Given the description of an element on the screen output the (x, y) to click on. 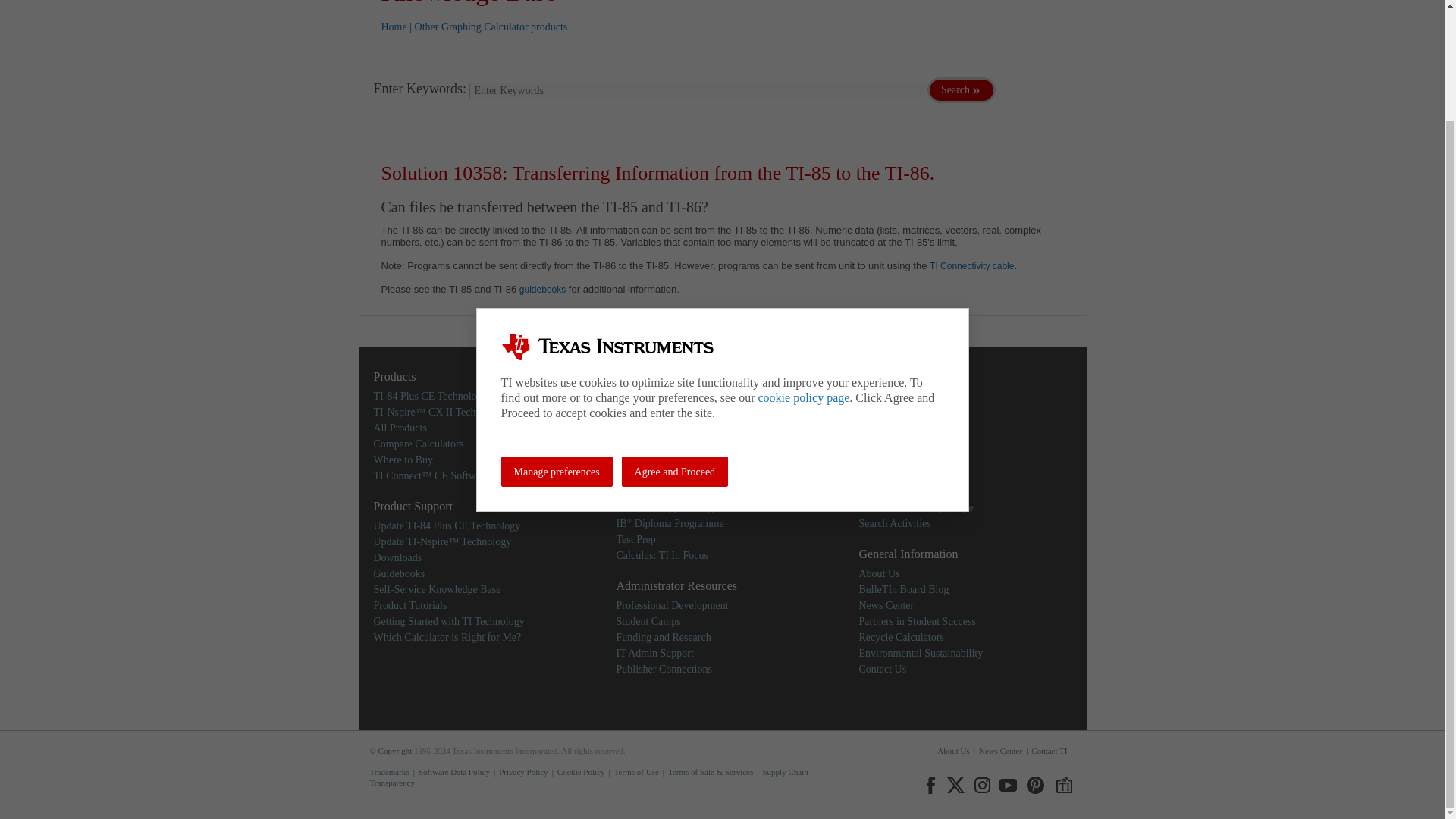
Where to Buy (402, 460)
Product Tutorials (409, 604)
All Products (399, 428)
Which Calculator is Right for Me? (446, 636)
Guidebooks (398, 573)
Update TI-84 Plus CE Technology (445, 524)
Update TI-Nspire Technology (441, 541)
Self-Service Knowledge Base  (436, 588)
Compare Calculators (417, 442)
Science (632, 410)
Downloads (397, 556)
Getting Started with TI Technology (448, 620)
Math (627, 396)
TI-84 Plus CE Technology (429, 396)
TI Connect CE Software (430, 474)
